Given the description of an element on the screen output the (x, y) to click on. 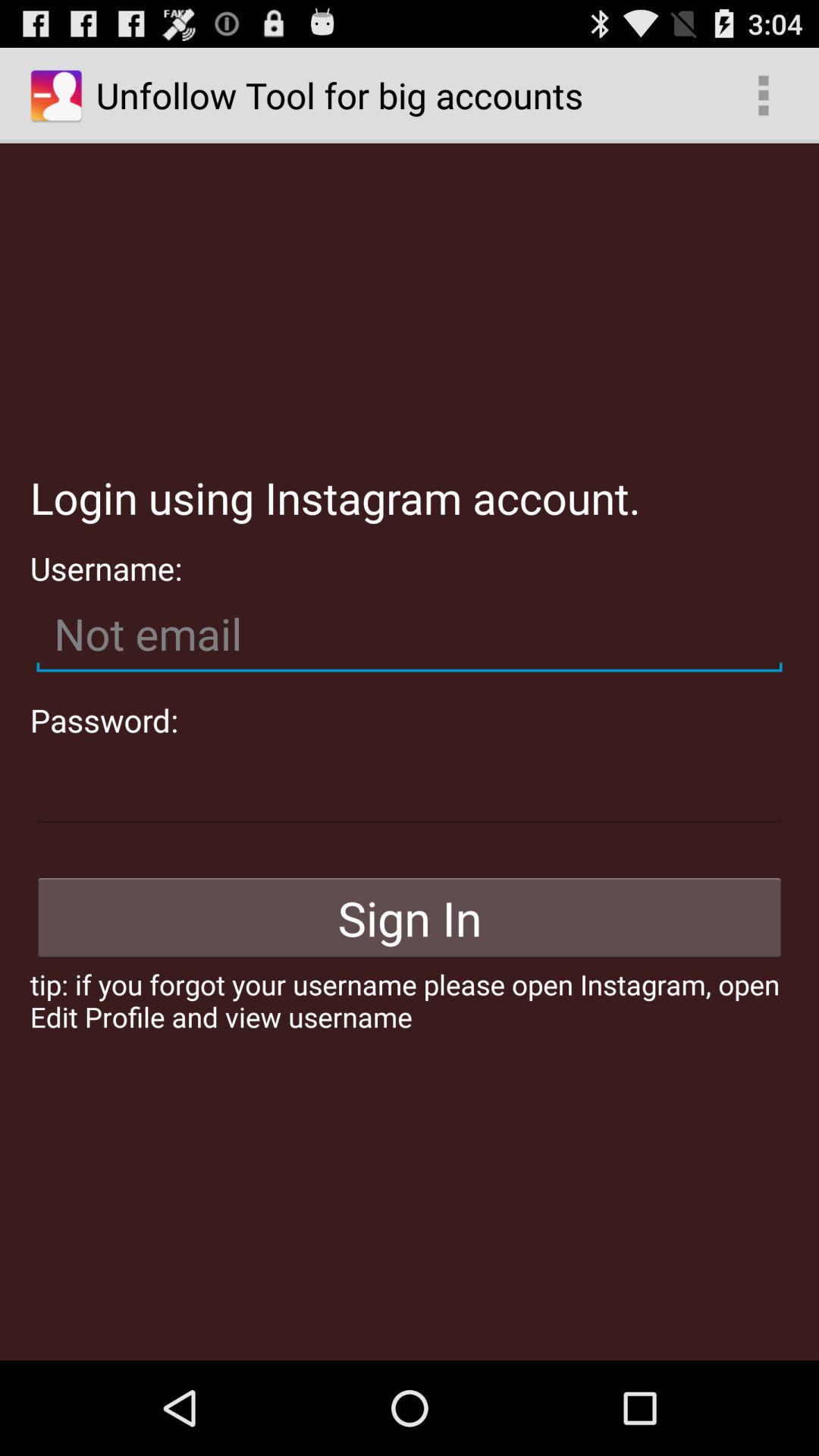
tap icon next to unfollow tool for item (763, 95)
